Given the description of an element on the screen output the (x, y) to click on. 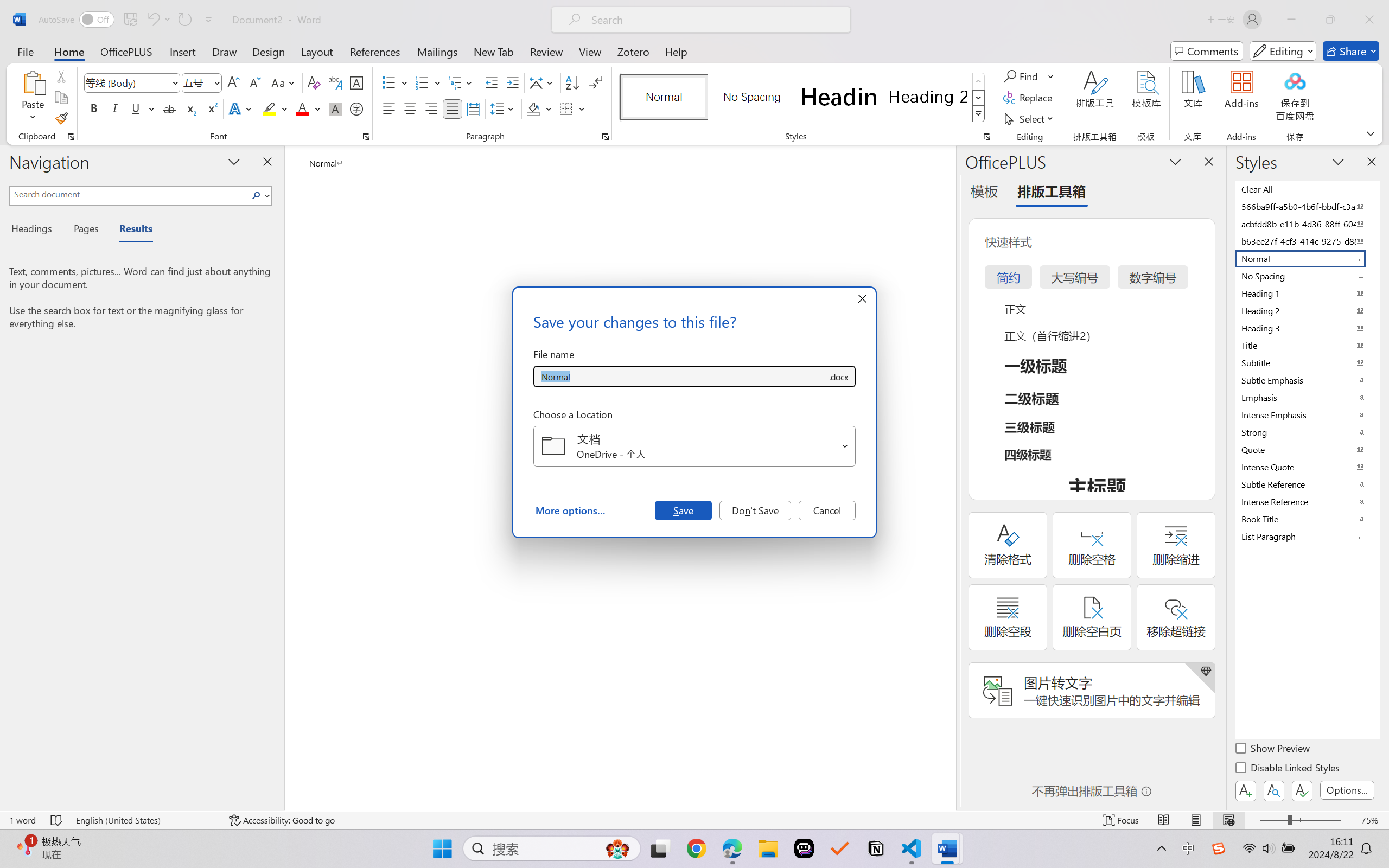
Select (1030, 118)
Zoom Out (1273, 819)
Undo Apply Quick Style (158, 19)
Show Preview (1273, 749)
Styles (978, 113)
Change Case (284, 82)
Text Highlight Color (274, 108)
Italic (115, 108)
Clear All (1306, 188)
Styles... (986, 136)
